Given the description of an element on the screen output the (x, y) to click on. 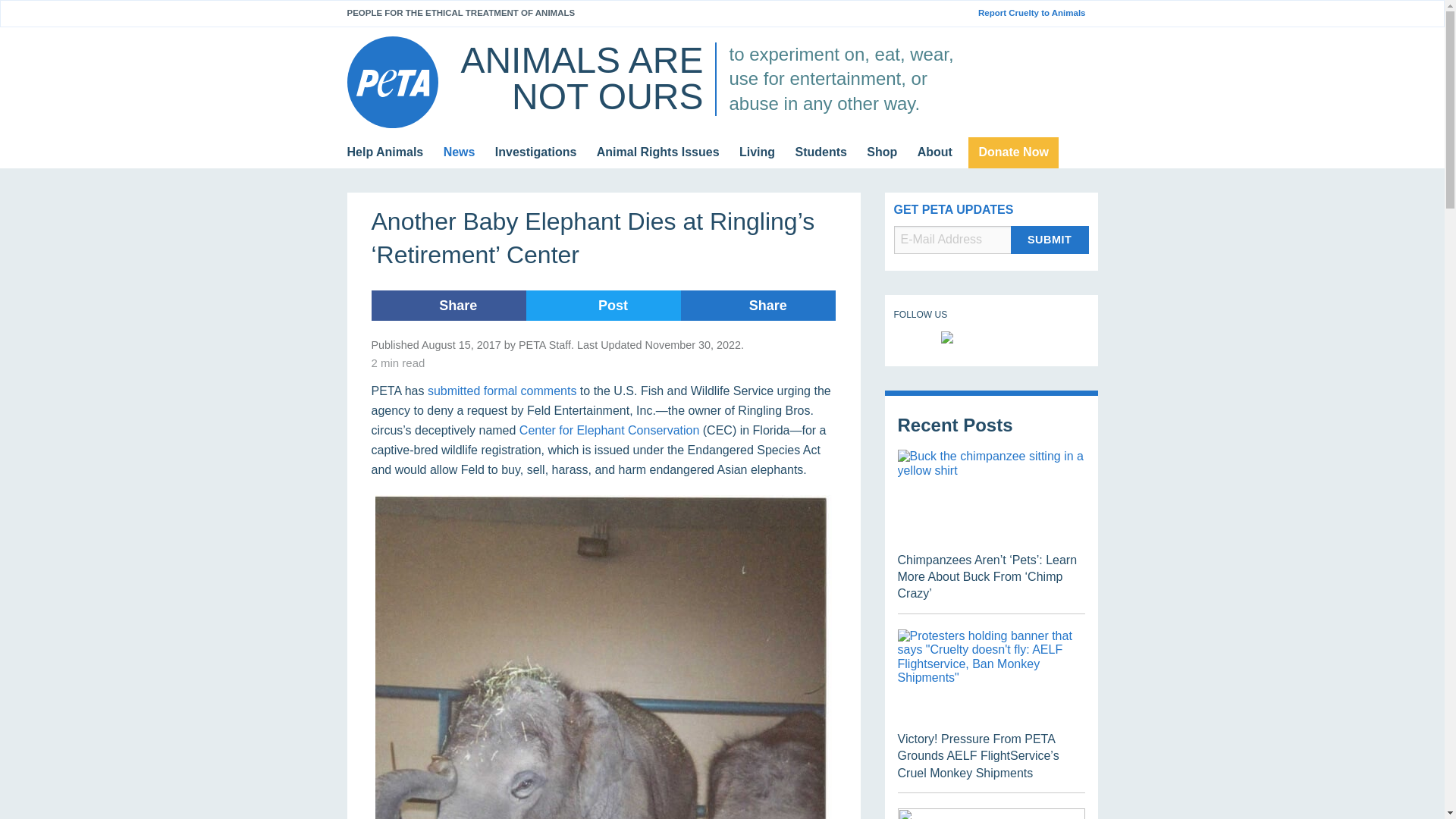
PEOPLE FOR THE ETHICAL TREATMENT OF ANIMALS (461, 13)
Report Cruelty to Animals (1037, 13)
Submit (1049, 239)
ANIMALS ARE NOT OURS (581, 78)
